Given the description of an element on the screen output the (x, y) to click on. 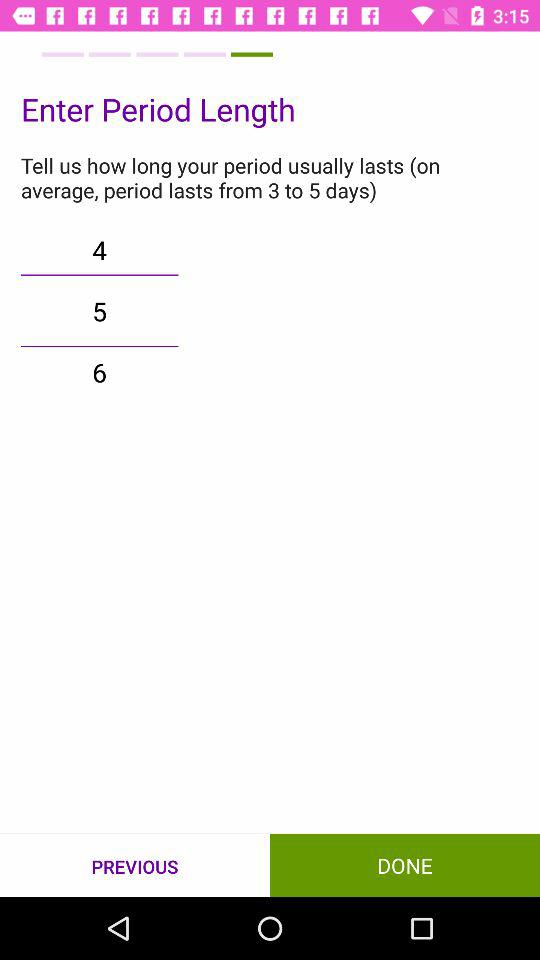
tap the item next to the done (135, 865)
